Given the description of an element on the screen output the (x, y) to click on. 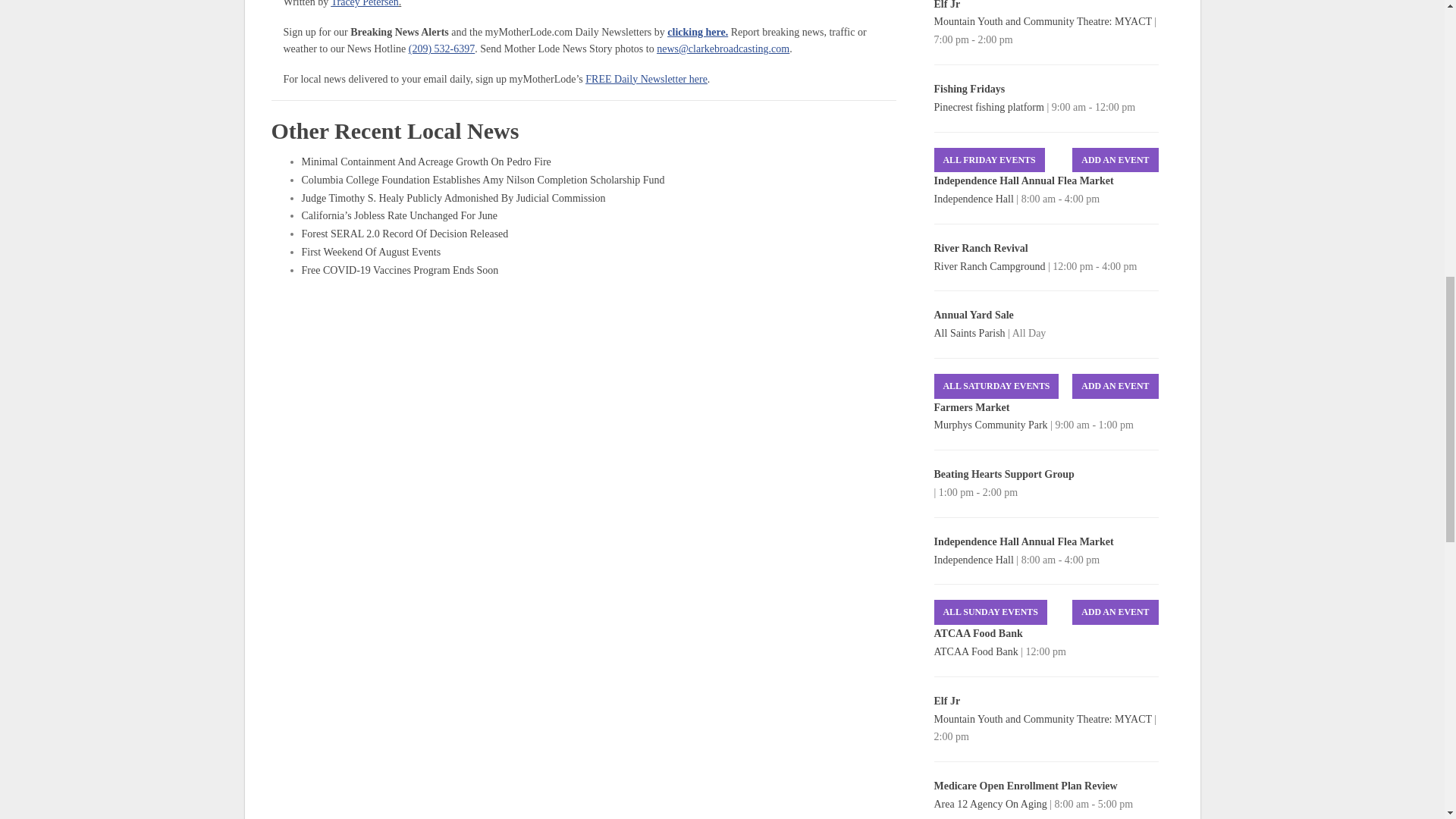
All Friday Events (989, 160)
Add An Event (1114, 385)
Add An Event (1114, 160)
Add An Event (1114, 611)
All Sunday Events (990, 611)
All Saturday Events (996, 385)
